Given the description of an element on the screen output the (x, y) to click on. 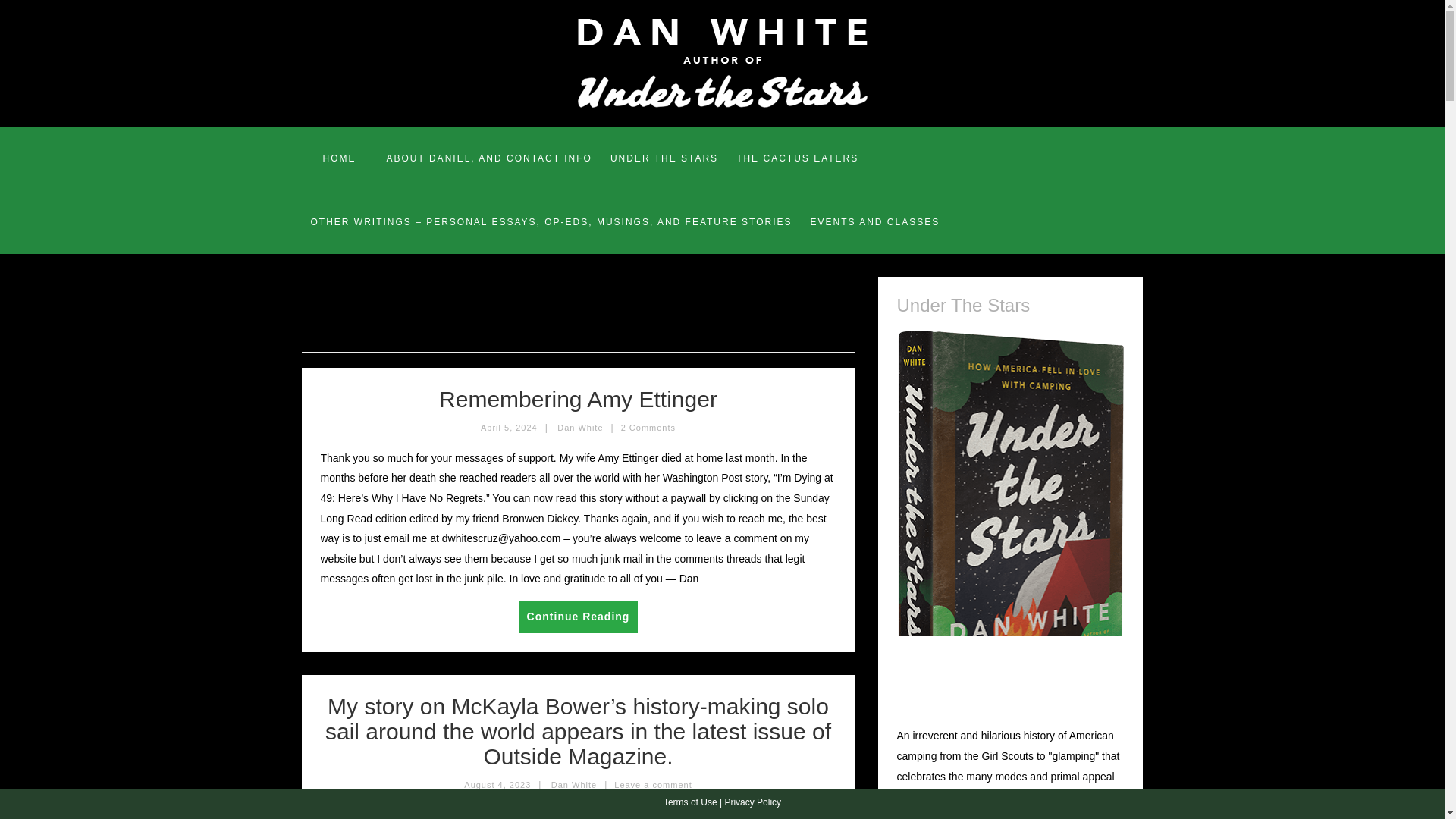
April 5, 2024 (508, 427)
Continue Reading (578, 616)
UNDER THE STARS (663, 158)
Remembering Amy Ettinger (578, 398)
EVENTS AND CLASSES (874, 221)
Home (339, 158)
Terms of Use (690, 801)
About Daniel, and contact info (489, 158)
The Cactus Eaters (796, 158)
HOME (339, 158)
Privacy Policy (751, 801)
2 Comments (648, 427)
Dan White (579, 427)
ABOUT DANIEL, AND CONTACT INFO (489, 158)
August 4, 2023 (497, 784)
